Given the description of an element on the screen output the (x, y) to click on. 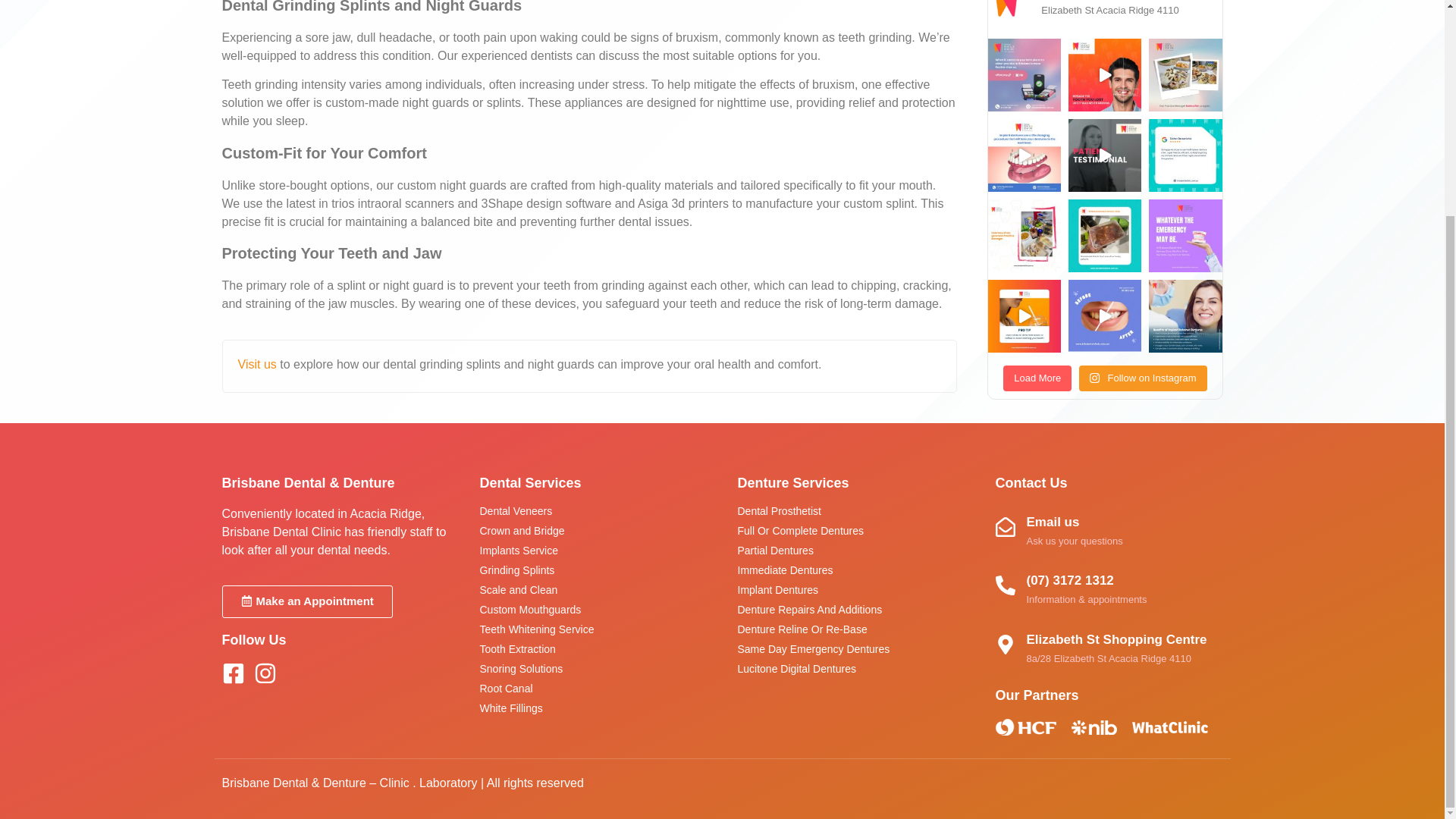
nib-logo (1093, 727)
what-clinic-white (1169, 727)
hcf-white (1024, 727)
